Given the description of an element on the screen output the (x, y) to click on. 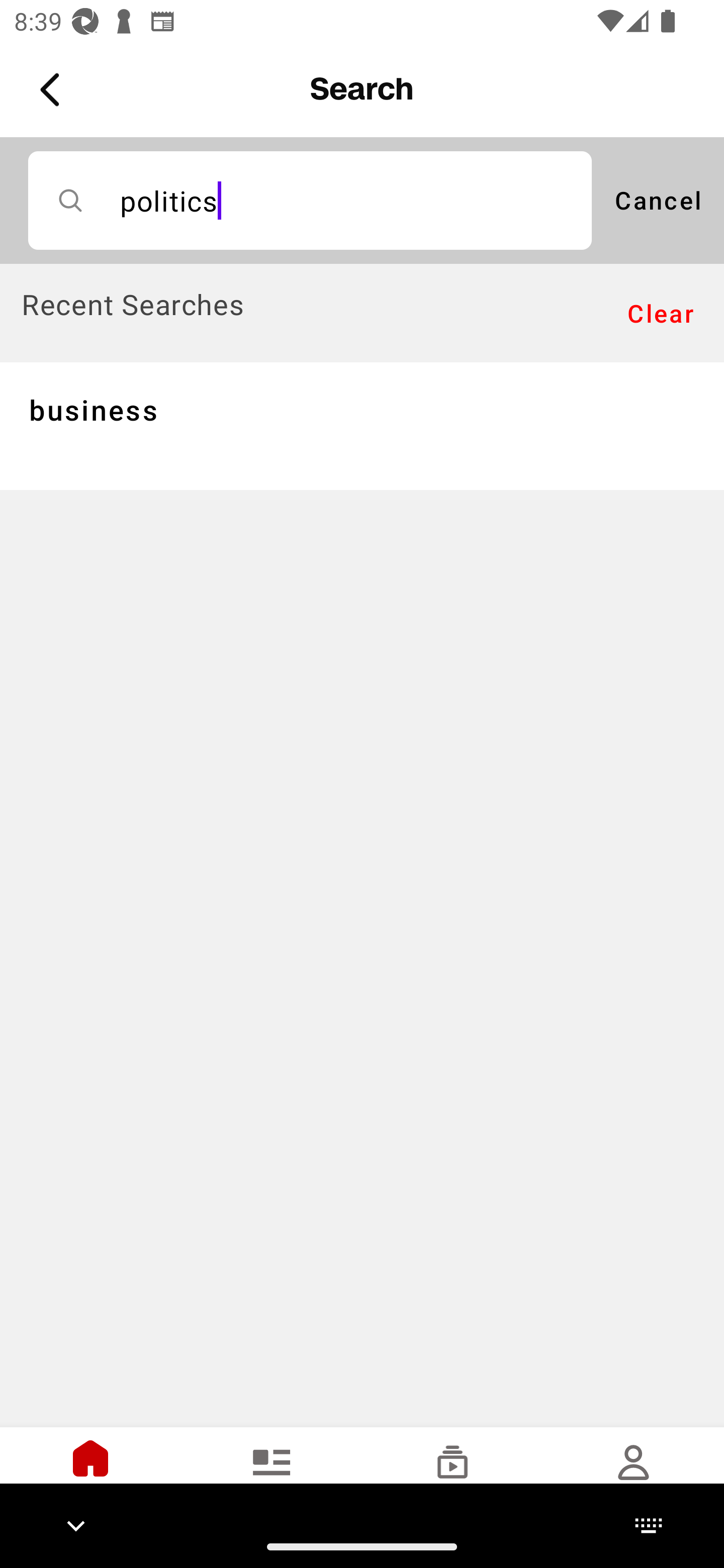
Back Button (52, 89)
Cancel (657, 199)
politics (309, 199)
Clear (660, 313)
business
 (362, 425)
Elections (271, 1475)
Watch (452, 1475)
Settings (633, 1475)
